Given the description of an element on the screen output the (x, y) to click on. 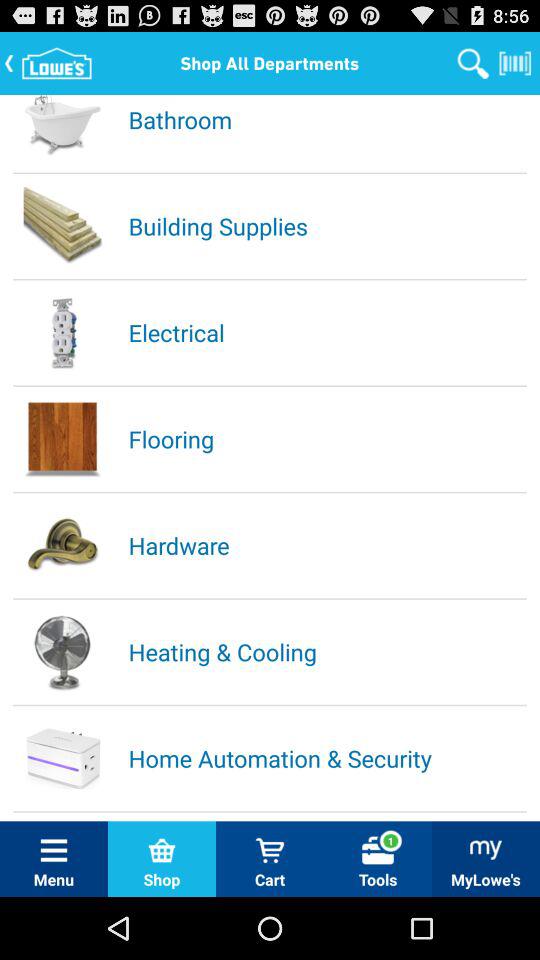
select the icon above home automation & security item (326, 651)
